Given the description of an element on the screen output the (x, y) to click on. 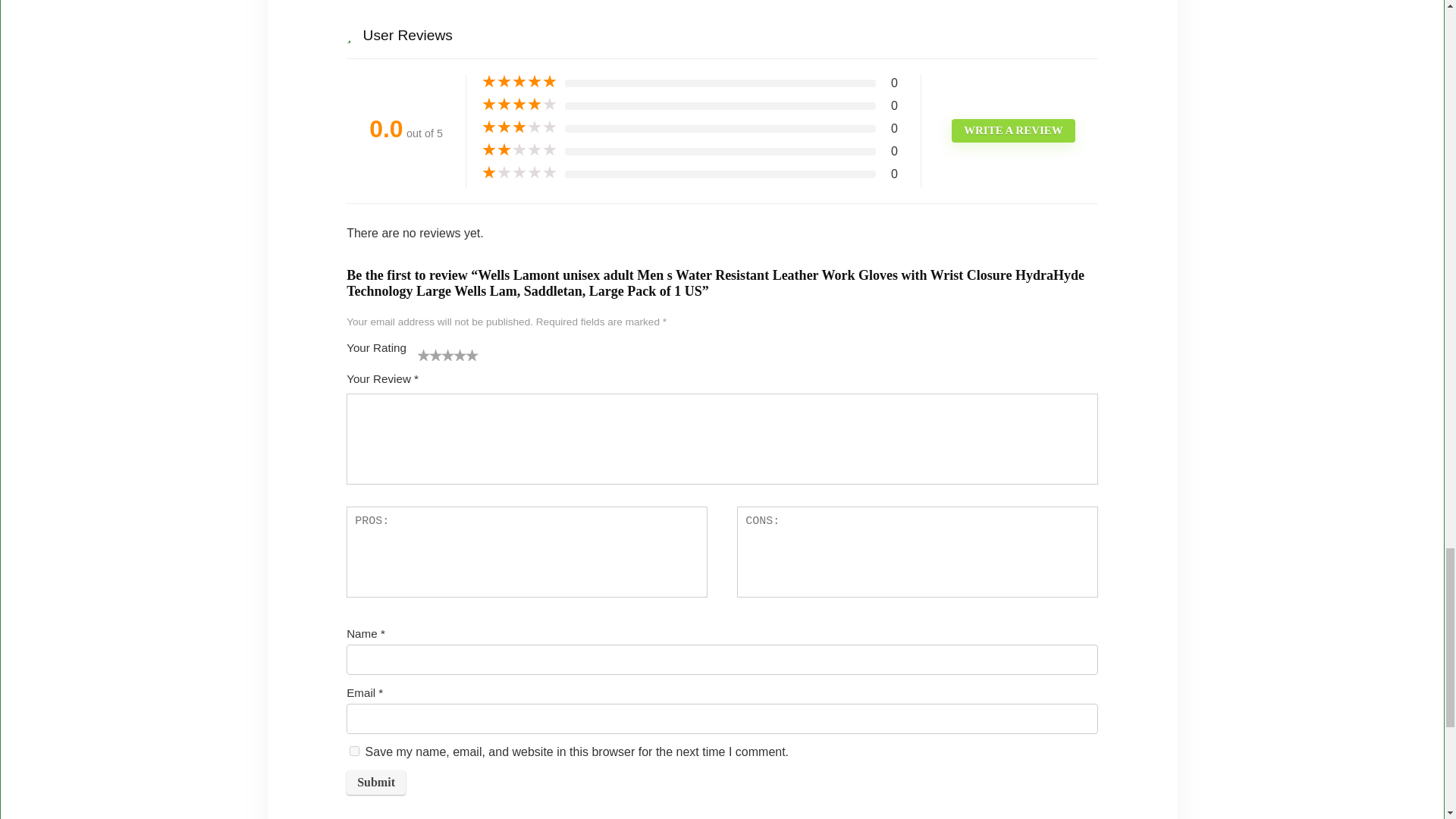
Rated 3 out of 5 (519, 127)
Rated 2 out of 5 (519, 150)
Rated 4 out of 5 (519, 104)
yes (354, 750)
WRITE A REVIEW (1013, 130)
Rated 1 out of 5 (519, 172)
Submit (376, 782)
Rated 5 out of 5 (519, 81)
